Given the description of an element on the screen output the (x, y) to click on. 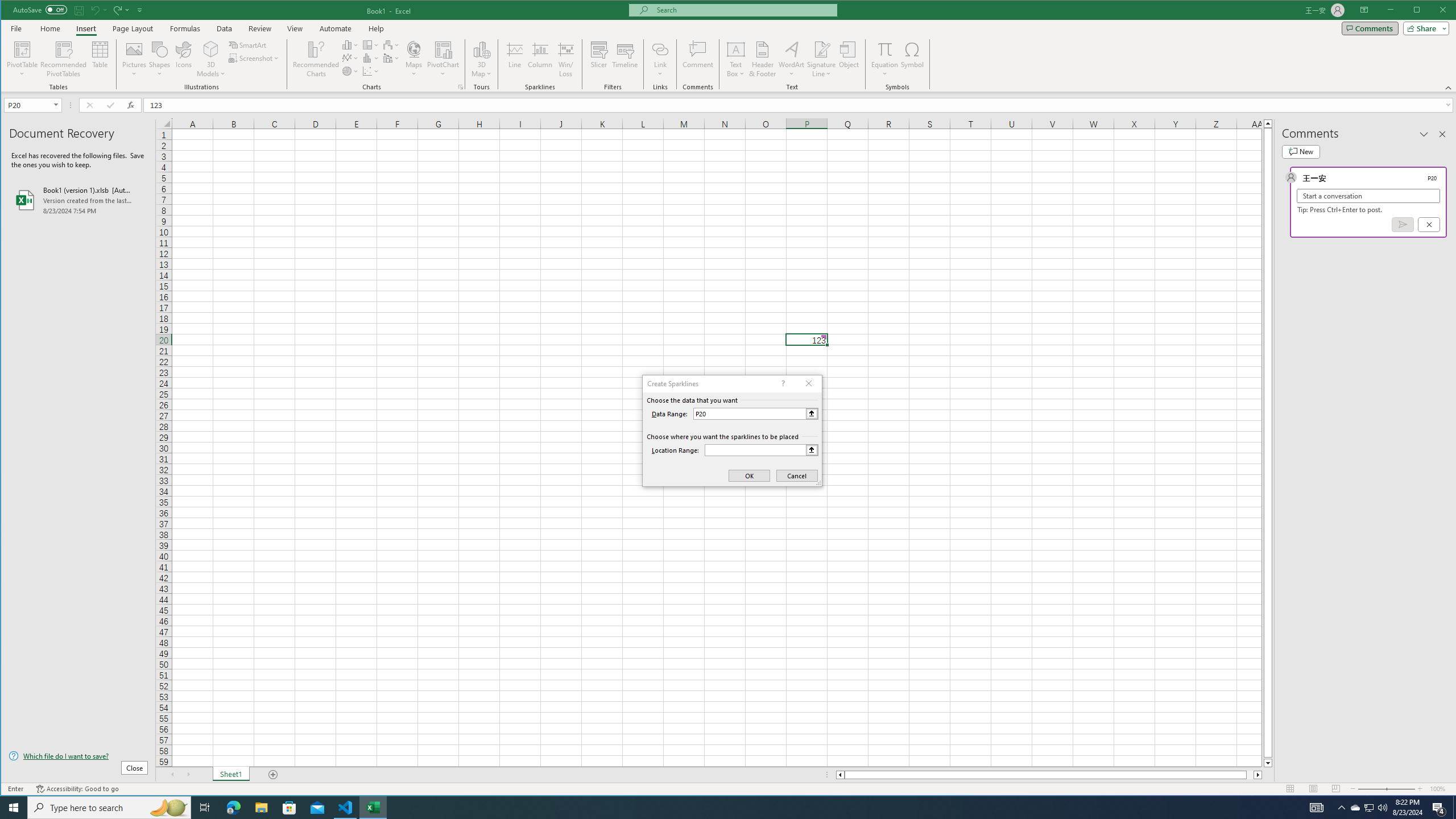
Link (659, 48)
Screenshot (254, 57)
3D Map (481, 48)
Object... (848, 59)
Win/Loss (565, 59)
Insert Line or Area Chart (350, 57)
Insert Column or Bar Chart (350, 44)
Insert Scatter (X, Y) or Bubble Chart (371, 70)
